Given the description of an element on the screen output the (x, y) to click on. 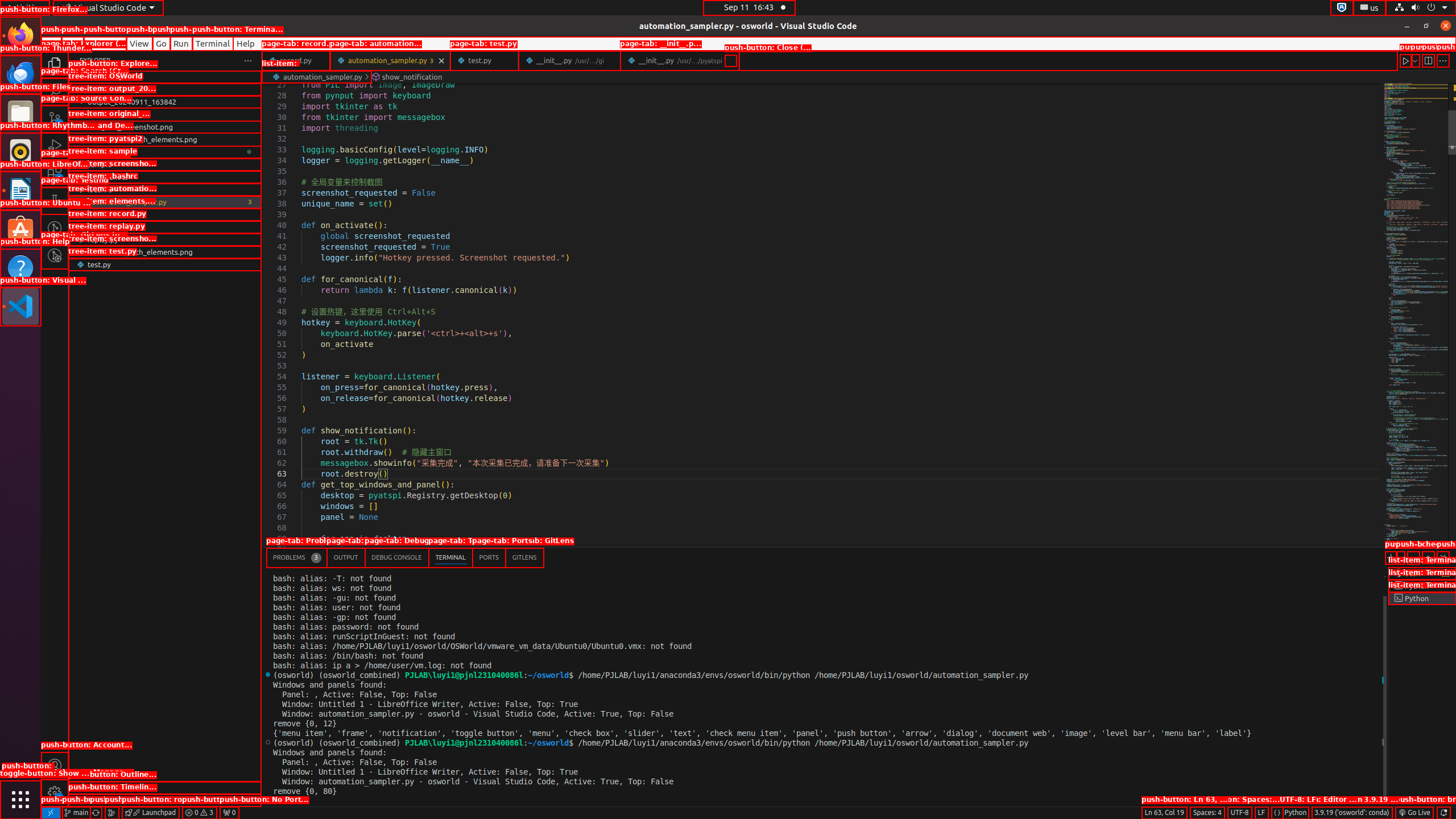
Warnings: 3 Element type: push-button (199, 812)
No Ports Forwarded Element type: push-button (228, 812)
Terminal 2 Python Element type: list-item (1422, 585)
Search (Ctrl+Shift+F) Element type: page-tab (54, 91)
